Given the description of an element on the screen output the (x, y) to click on. 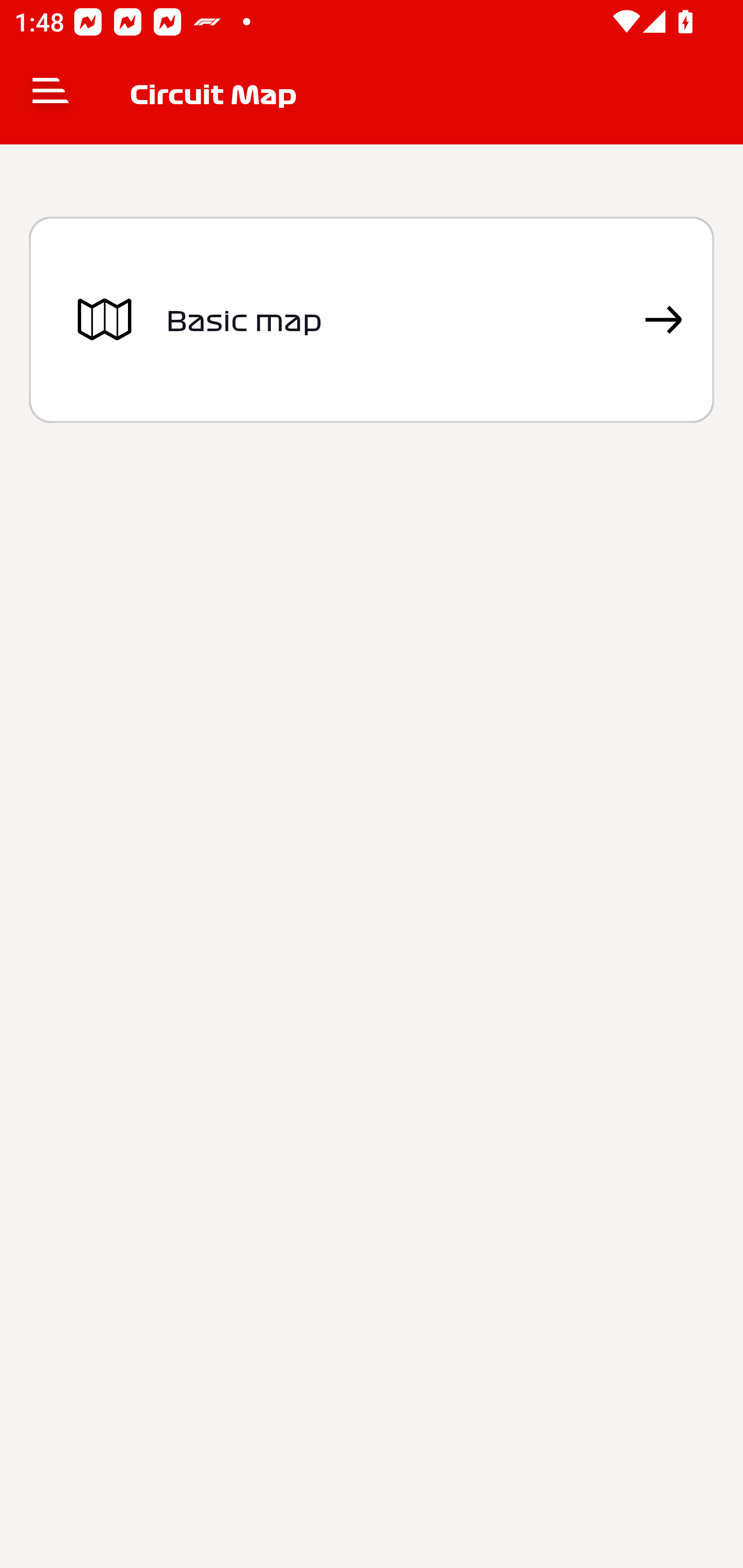
Navigate up (50, 93)
Basic map (371, 319)
